Given the description of an element on the screen output the (x, y) to click on. 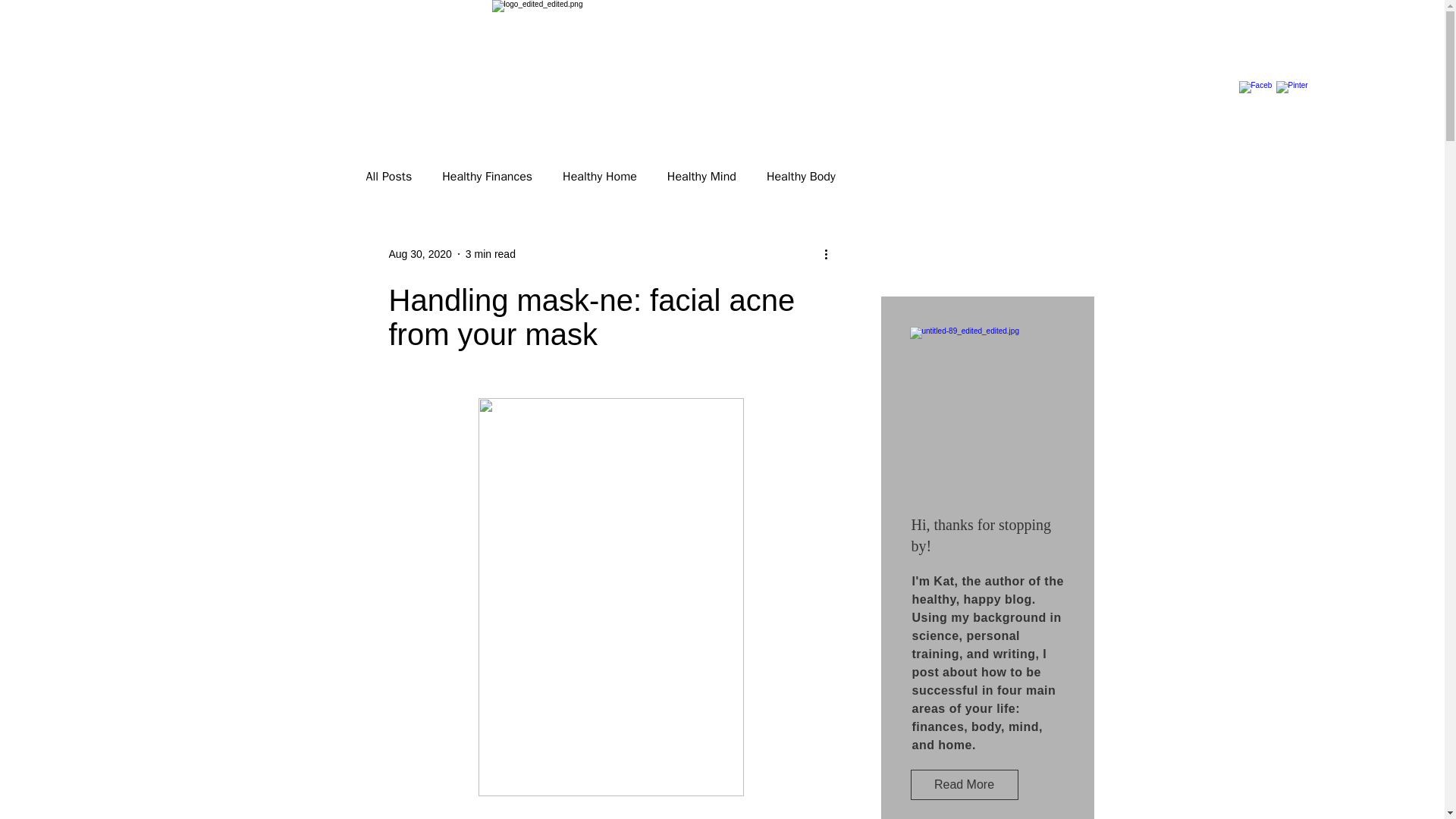
All Posts (388, 176)
Healthy Body (801, 176)
Aug 30, 2020 (419, 253)
Read More (963, 784)
Healthy Finances (487, 176)
Healthy Mind (701, 176)
Healthy Home (599, 176)
3 min read (490, 253)
